Given the description of an element on the screen output the (x, y) to click on. 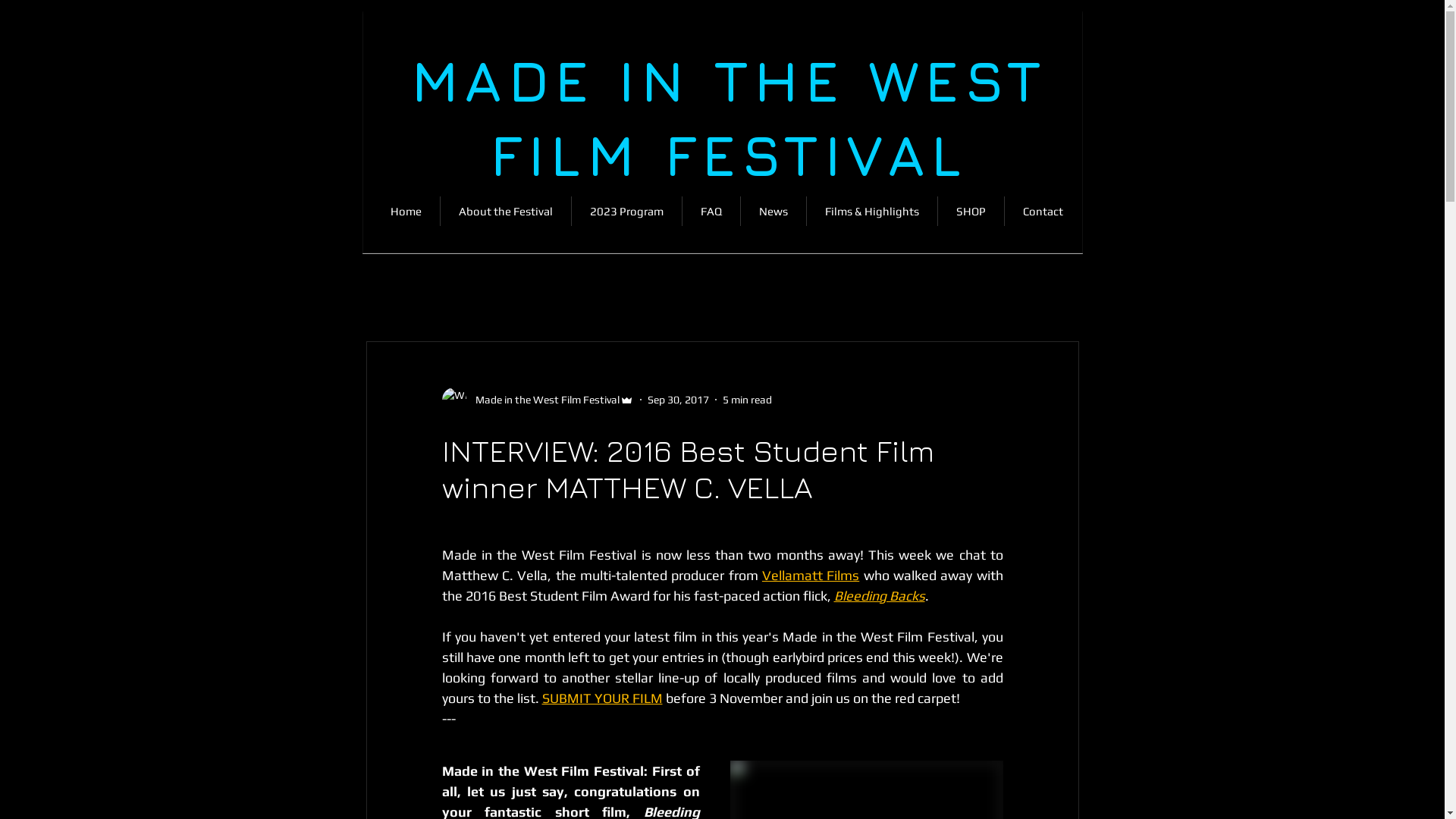
FAQ Element type: text (711, 210)
2023 Program Element type: text (626, 210)
SHOP Element type: text (970, 210)
Bleeding Backs Element type: text (879, 595)
About the Festival Element type: text (504, 210)
Home Element type: text (405, 210)
SUBMIT YOUR FILM Element type: text (601, 698)
Contact Element type: text (1042, 210)
Films & Highlights Element type: text (871, 210)
Vellamatt Films Element type: text (810, 575)
News Element type: text (772, 210)
